Given the description of an element on the screen output the (x, y) to click on. 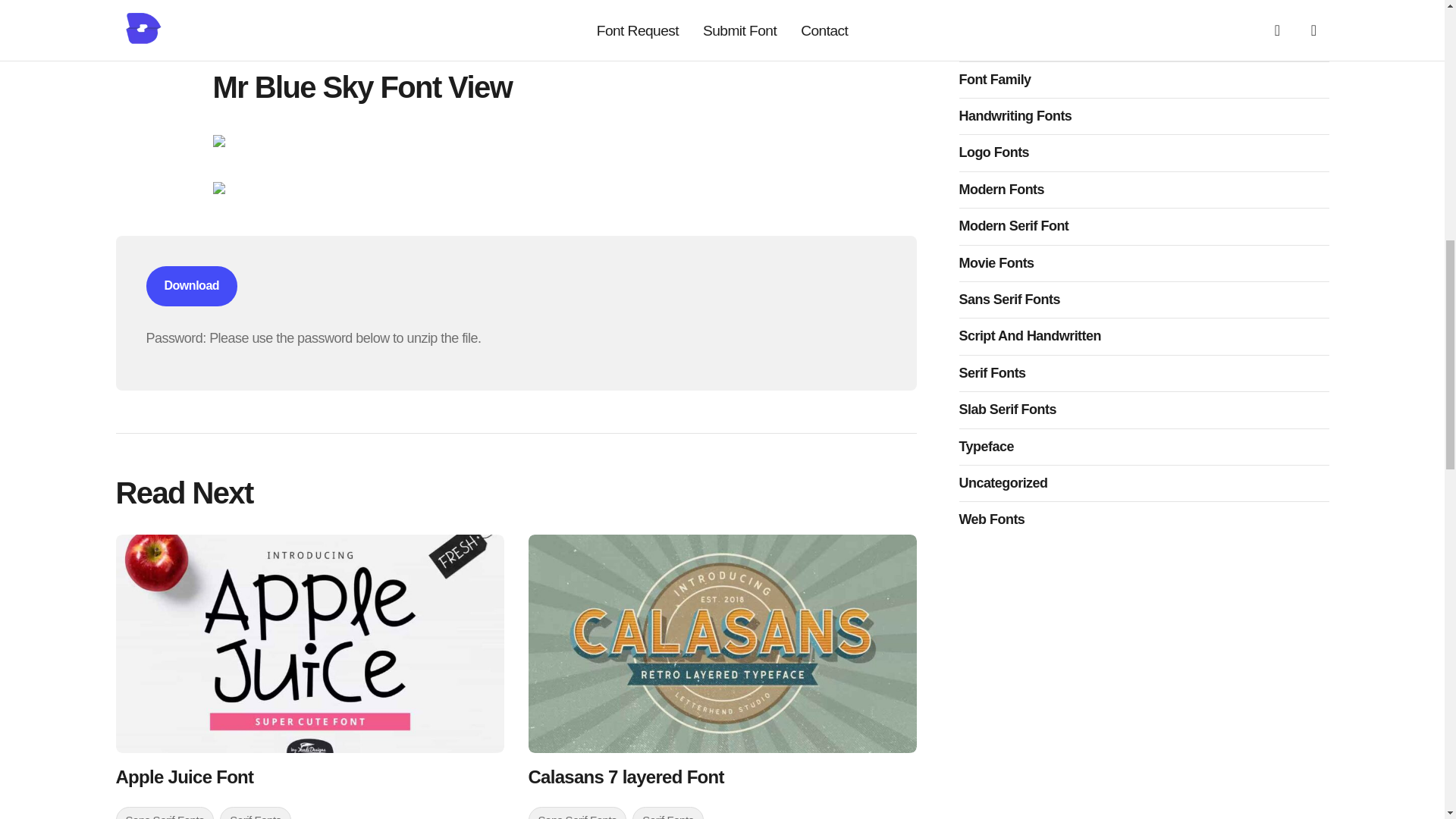
Sans Serif Fonts (164, 812)
Calasans 7 layered Font (721, 776)
Calasans 7 layered Font (721, 643)
Download (191, 285)
Apple Juice Font (309, 776)
Apple Juice Font (309, 643)
Serif Fonts (255, 812)
